Given the description of an element on the screen output the (x, y) to click on. 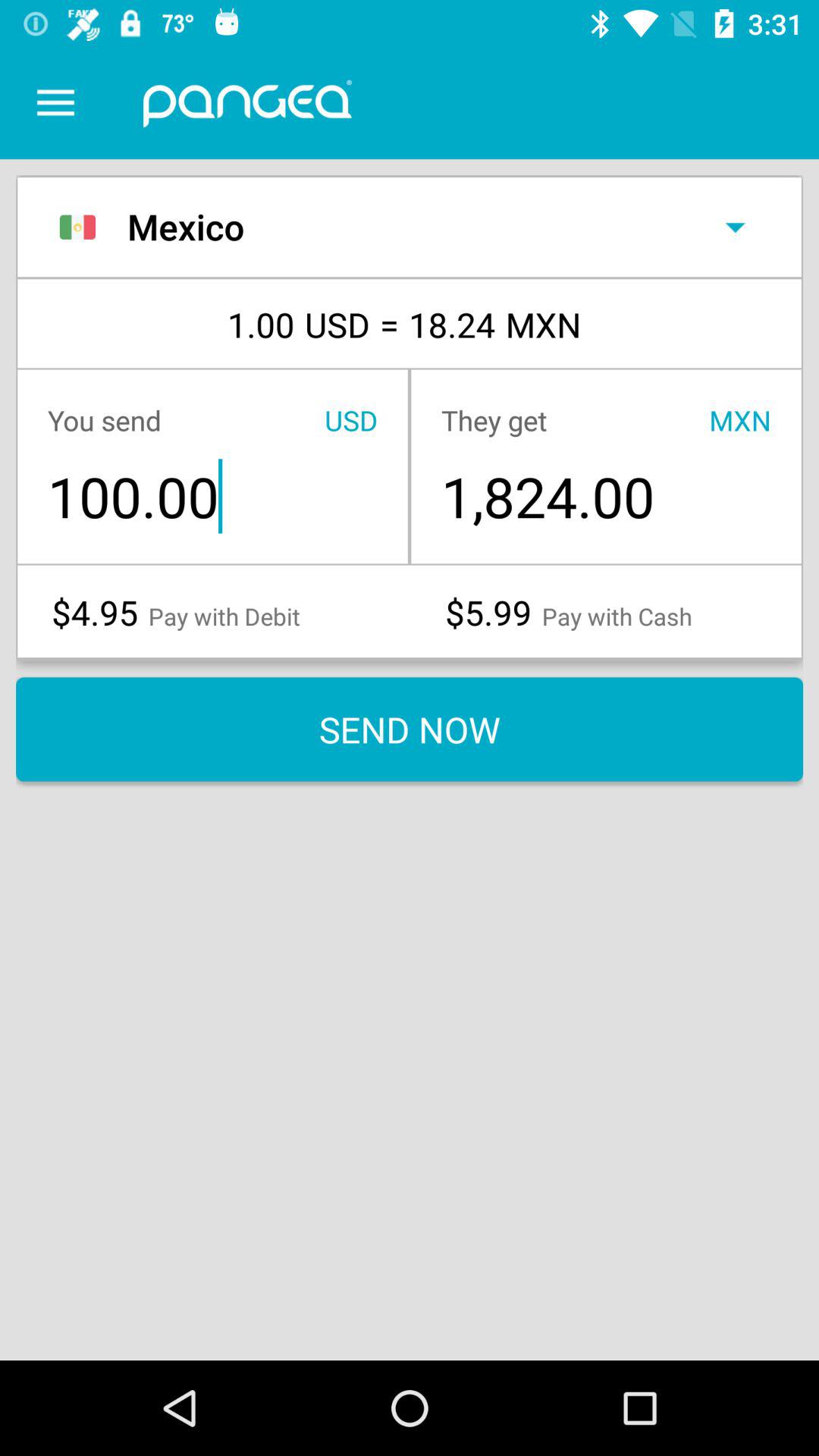
tap item to the right of the 100.00 (606, 495)
